Given the description of an element on the screen output the (x, y) to click on. 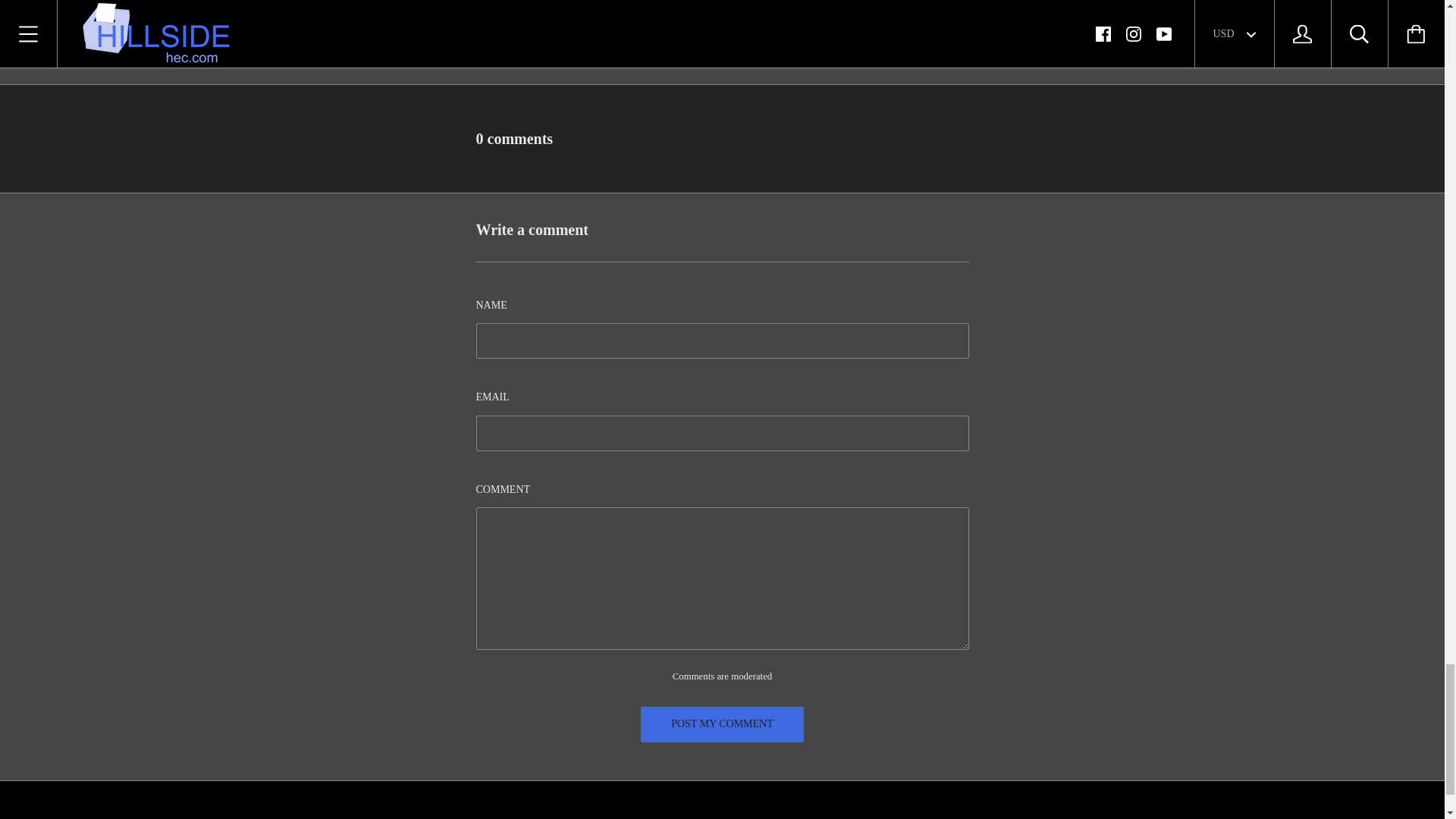
Show articles tagged Epson Repair Center (569, 25)
Show articles tagged POS Receipts (887, 25)
Show articles tagged Kitchen Printers (665, 25)
Show articles tagged Printing Too Light (522, 44)
Show articles tagged Label Printers (744, 25)
Show articles tagged POS Printers (817, 25)
